Given the description of an element on the screen output the (x, y) to click on. 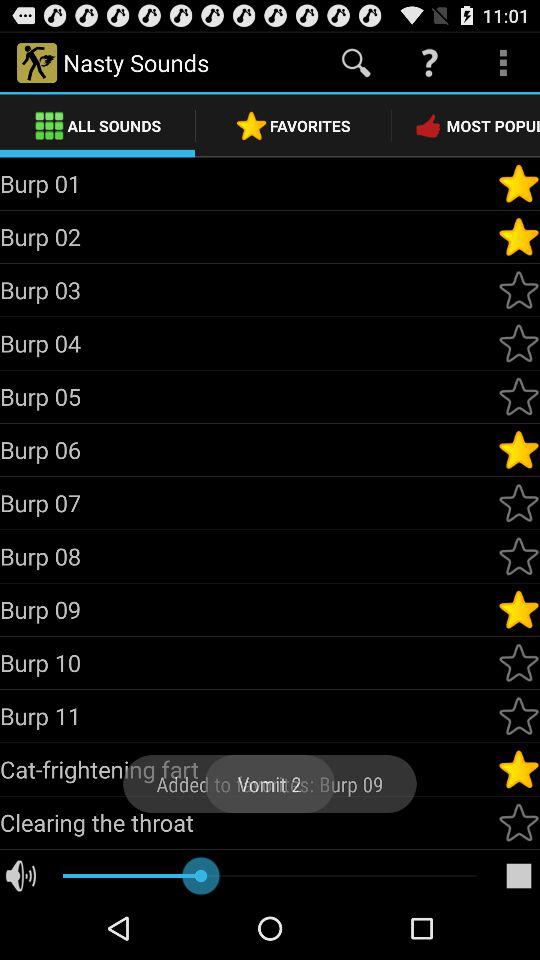
sets burp 03 as a favorite (519, 290)
